Given the description of an element on the screen output the (x, y) to click on. 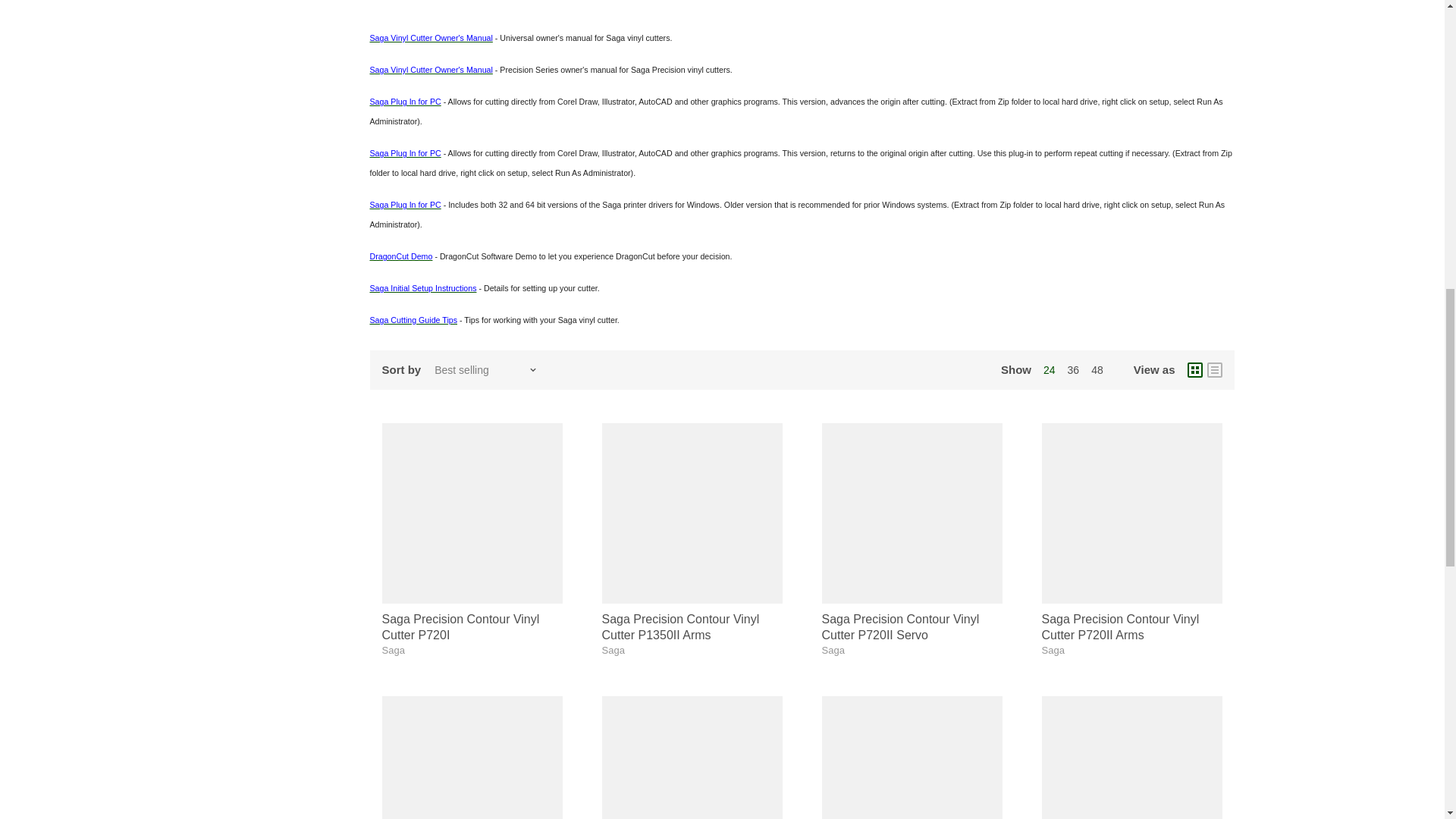
Saga (613, 650)
Saga (392, 650)
Saga (833, 650)
Saga (1053, 650)
